Given the description of an element on the screen output the (x, y) to click on. 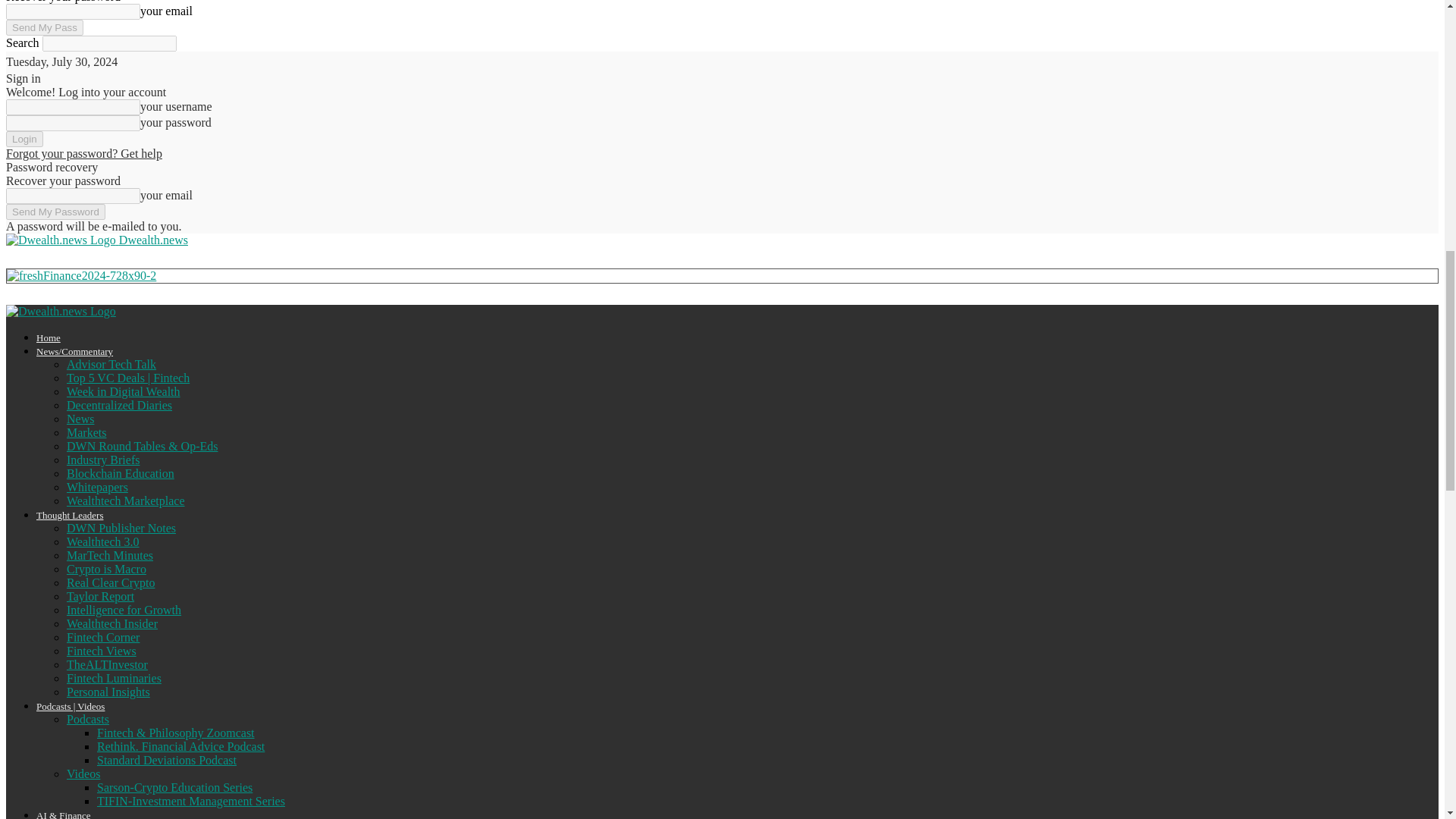
Send My Pass (43, 27)
Login (24, 139)
Send My Password (54, 211)
